Given the description of an element on the screen output the (x, y) to click on. 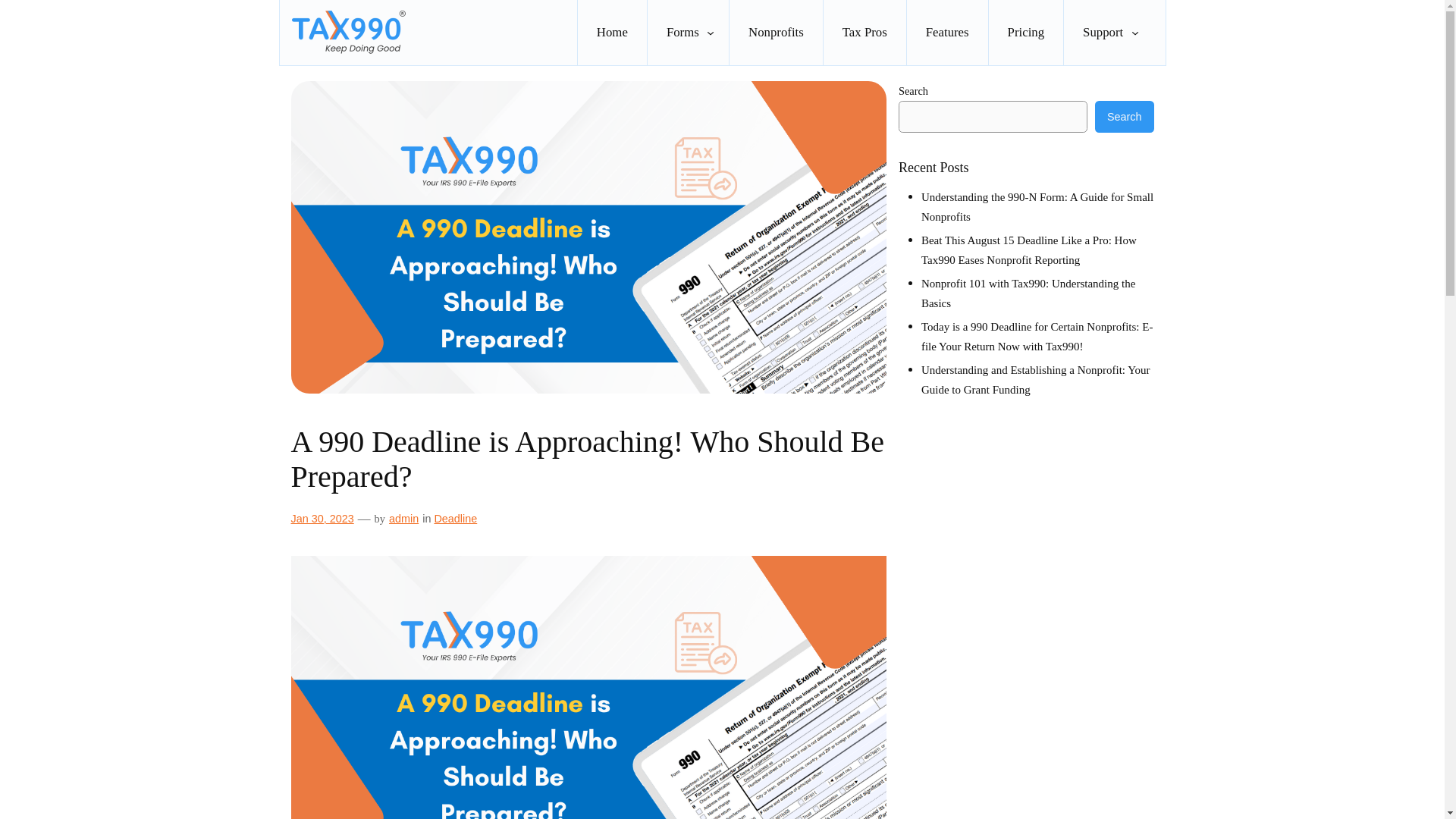
Jan 30, 2023 (322, 518)
admin (403, 518)
Tax Pros (864, 32)
Home (612, 32)
Pricing (1025, 32)
Features (947, 32)
Deadline (455, 518)
Forms (682, 32)
Support (1102, 32)
Nonprofits (775, 32)
